Given the description of an element on the screen output the (x, y) to click on. 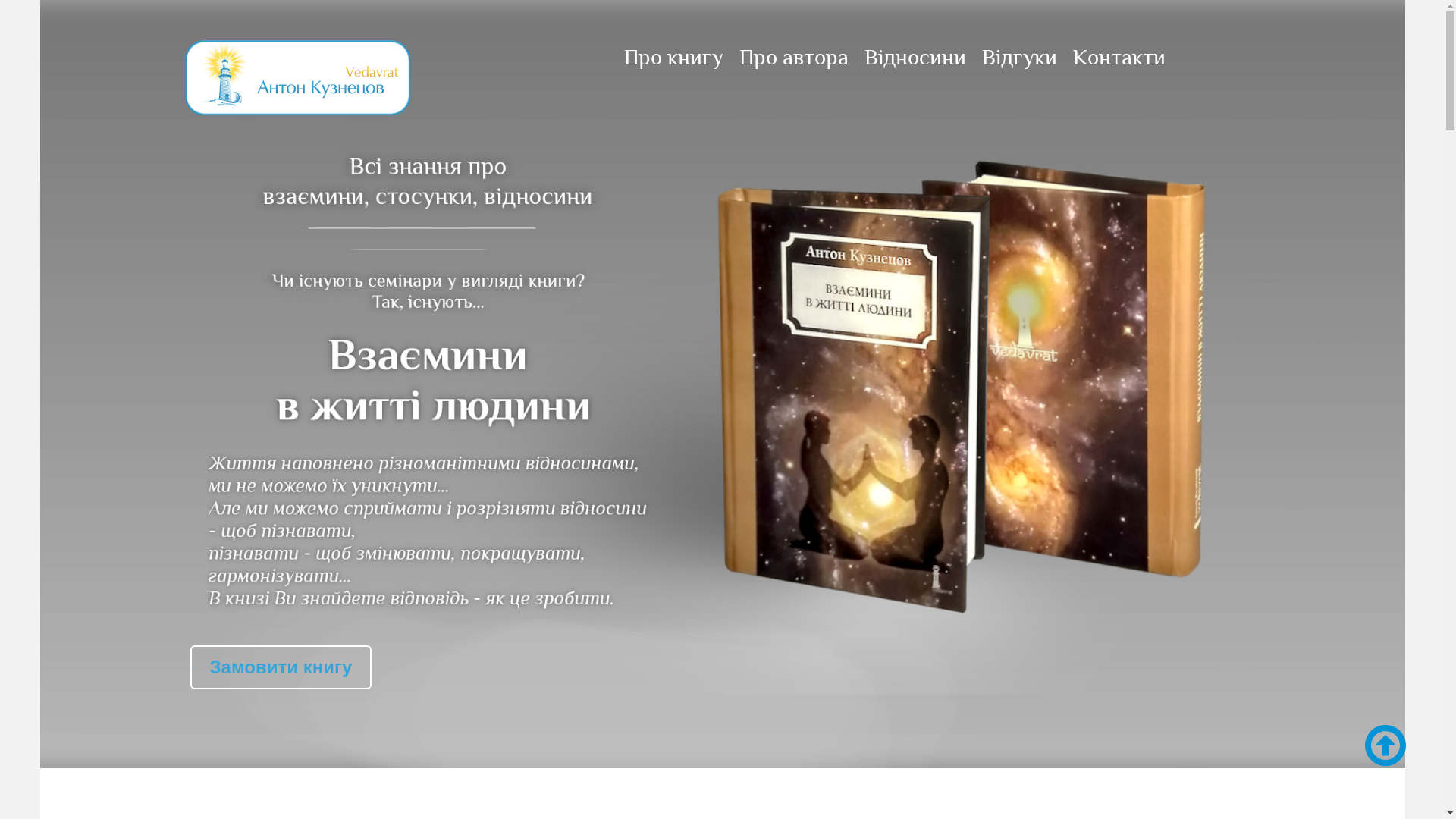
https://vedavrat.org/ Element type: hover (343, 75)
